Given the description of an element on the screen output the (x, y) to click on. 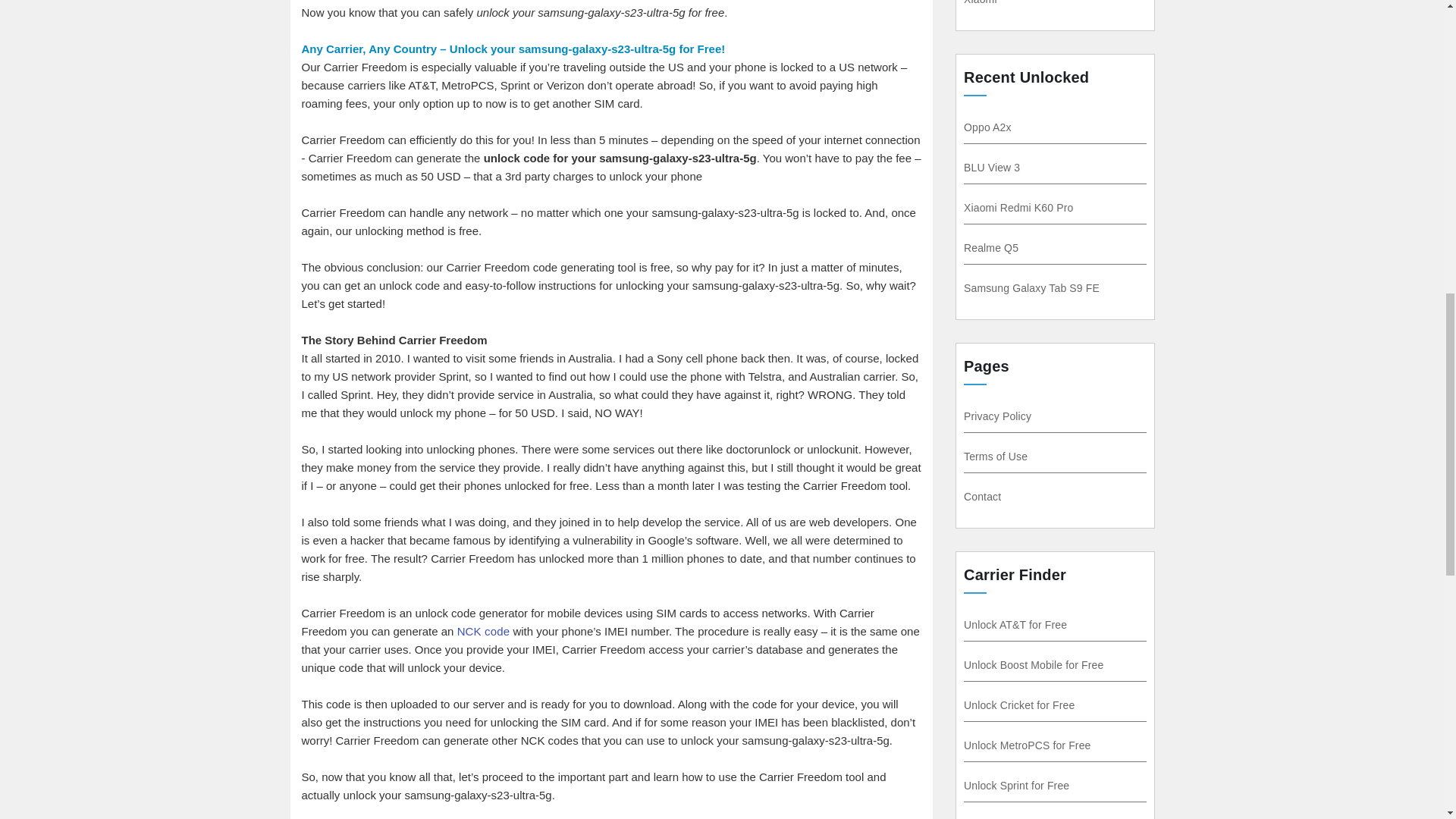
Contact (978, 496)
Privacy Policy (993, 416)
Realme Q5 (988, 247)
BLU View 3 (995, 167)
Xiaomi Redmi K60 Pro (1018, 207)
Samsung Galaxy Tab S9 FE (1028, 287)
Oppo A2x (993, 127)
Terms of Use (991, 456)
Xiaomi (987, 2)
NCK code (484, 631)
